Given the description of an element on the screen output the (x, y) to click on. 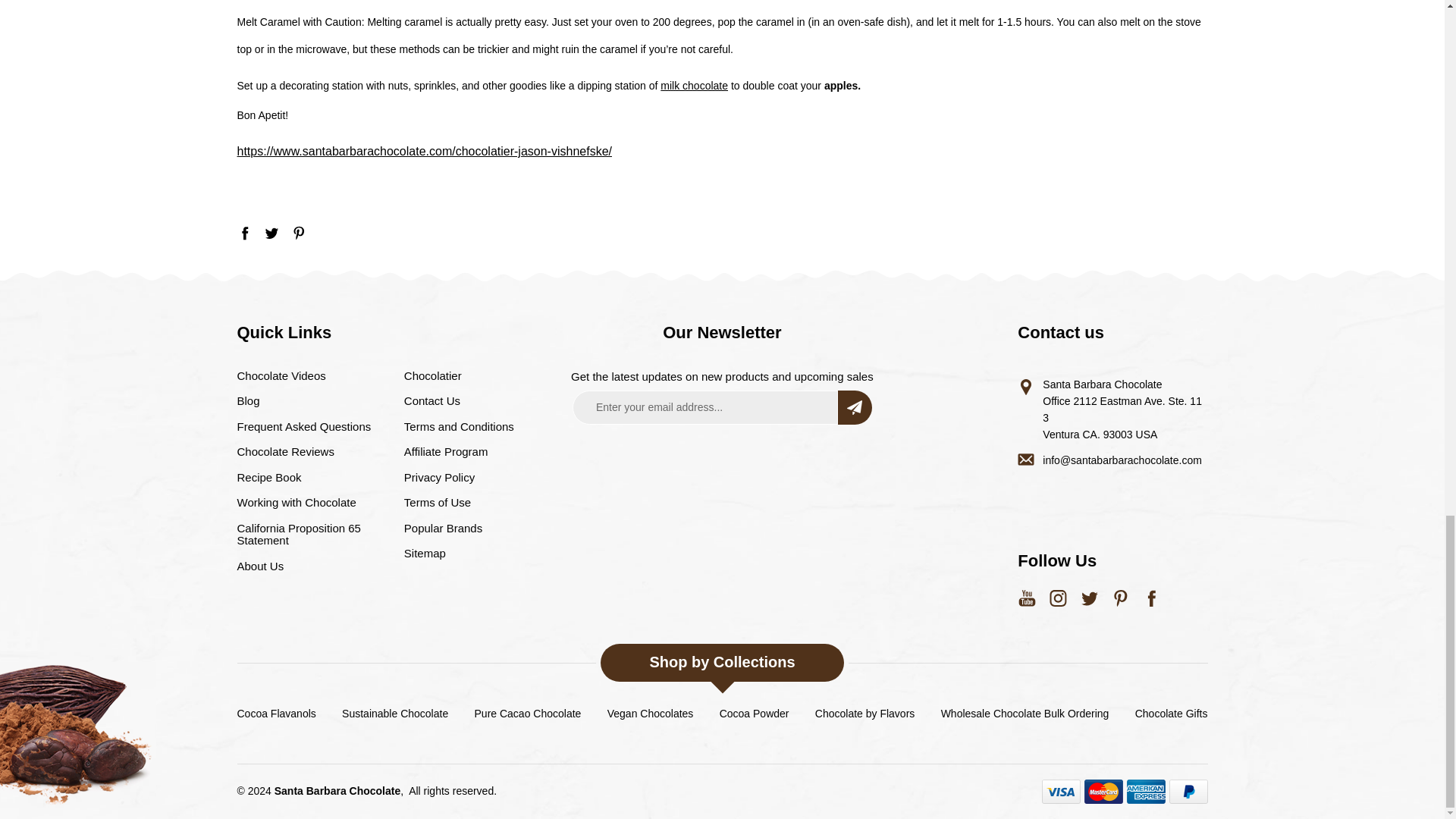
Twitter (271, 232)
Facebook (243, 232)
Subscribe (855, 407)
Pinterest (298, 232)
